Given the description of an element on the screen output the (x, y) to click on. 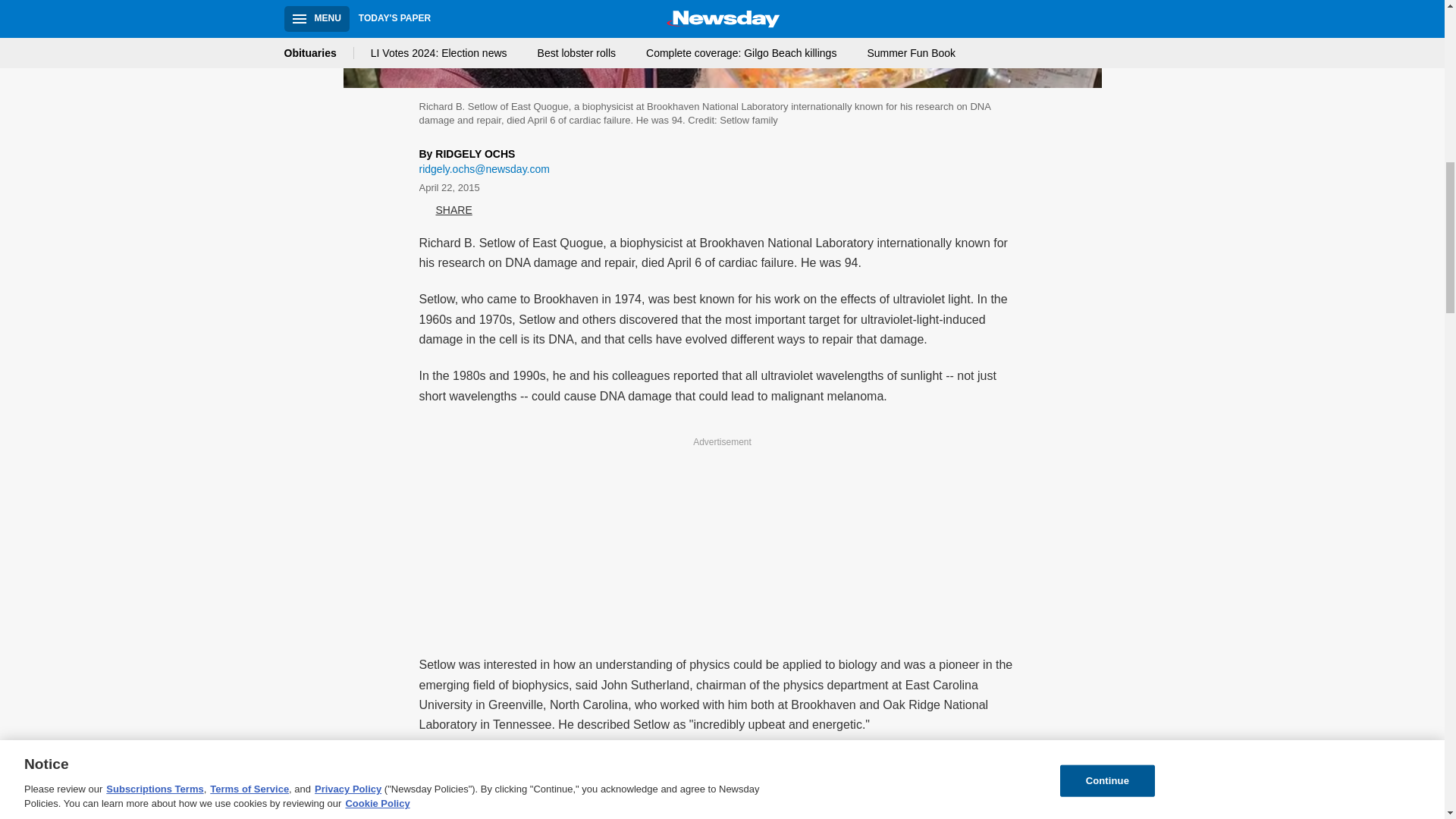
SHARE (445, 210)
